Given the description of an element on the screen output the (x, y) to click on. 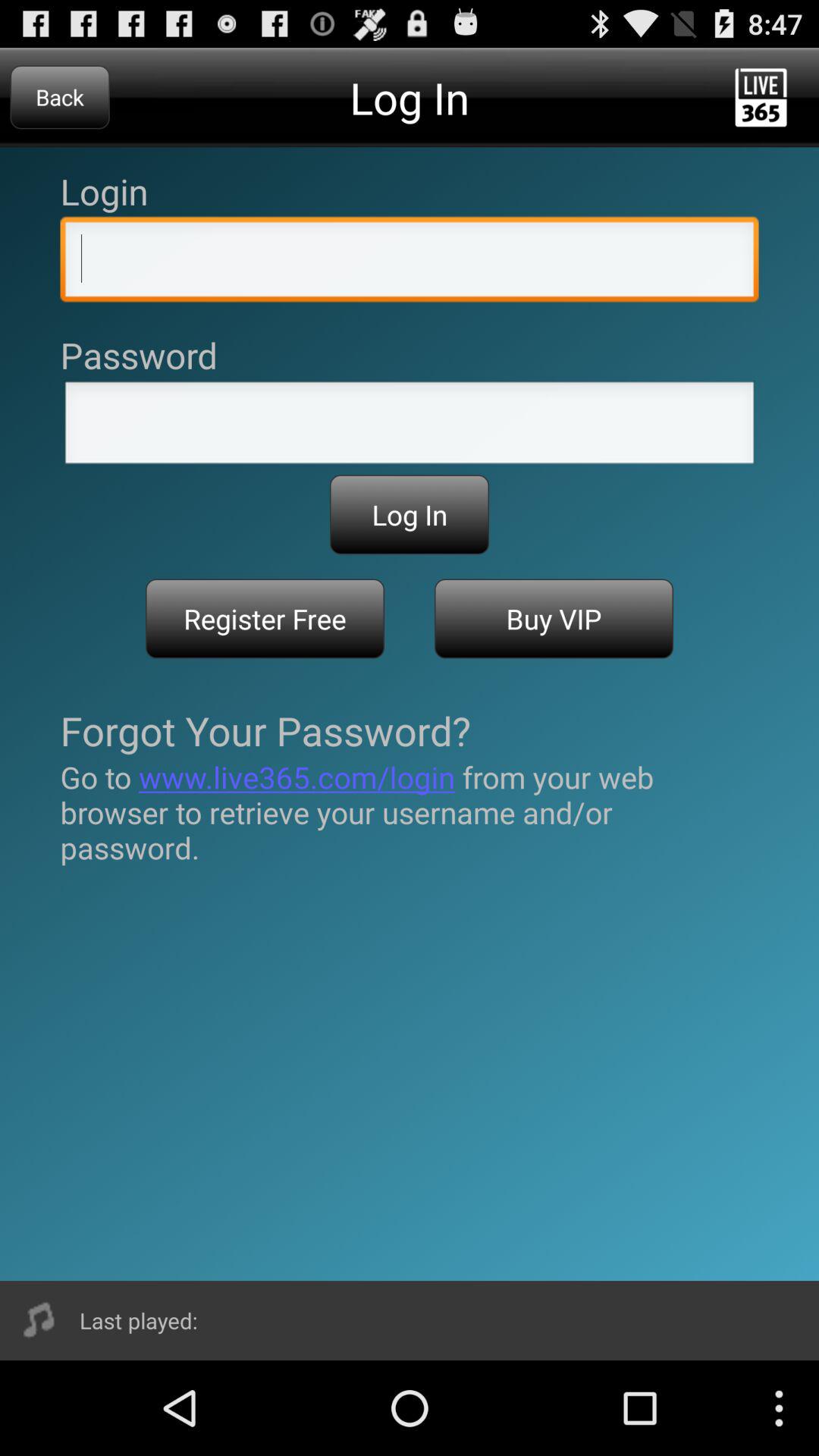
turn on icon on the left (264, 618)
